Given the description of an element on the screen output the (x, y) to click on. 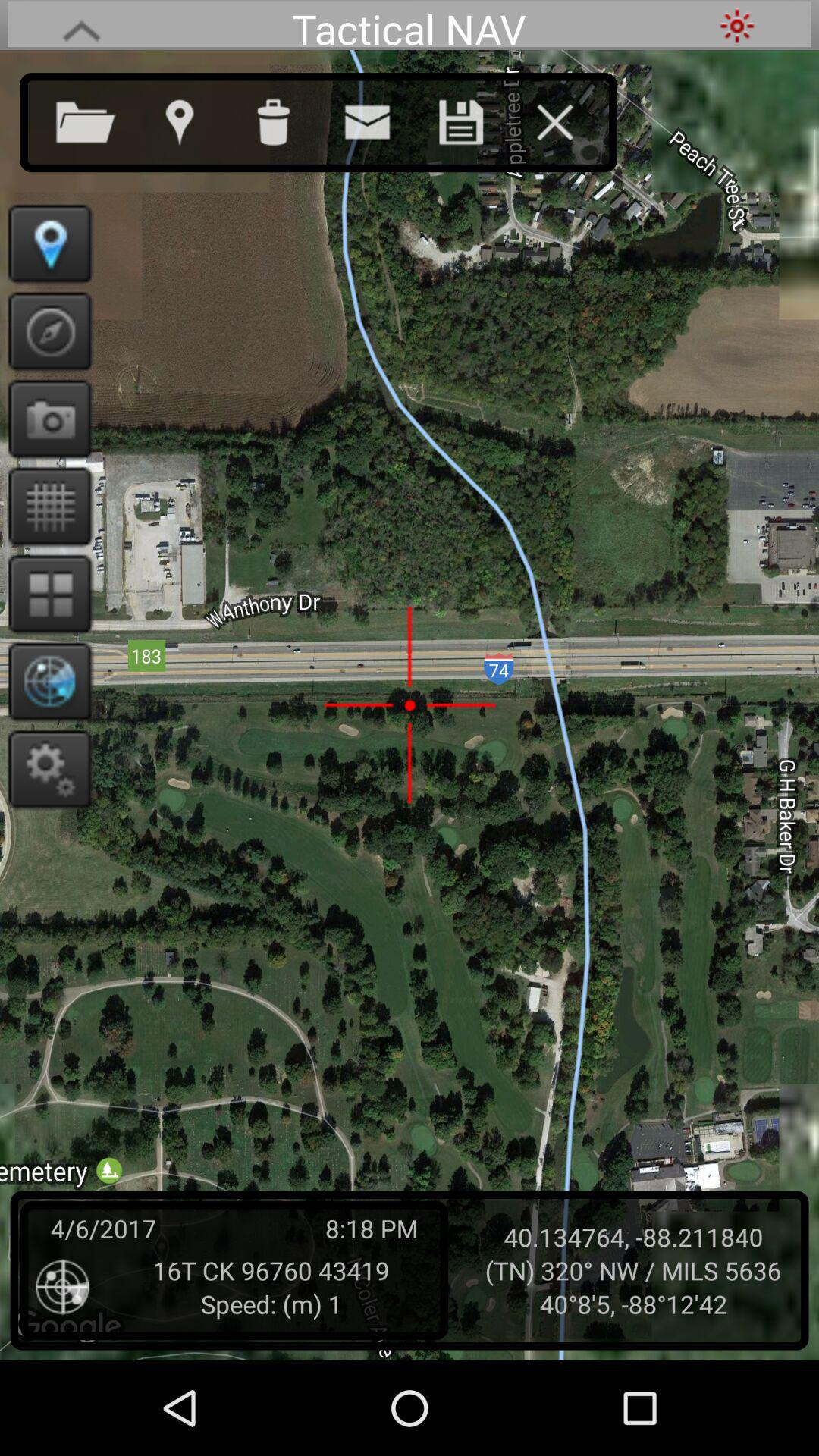
open maps (194, 119)
